Given the description of an element on the screen output the (x, y) to click on. 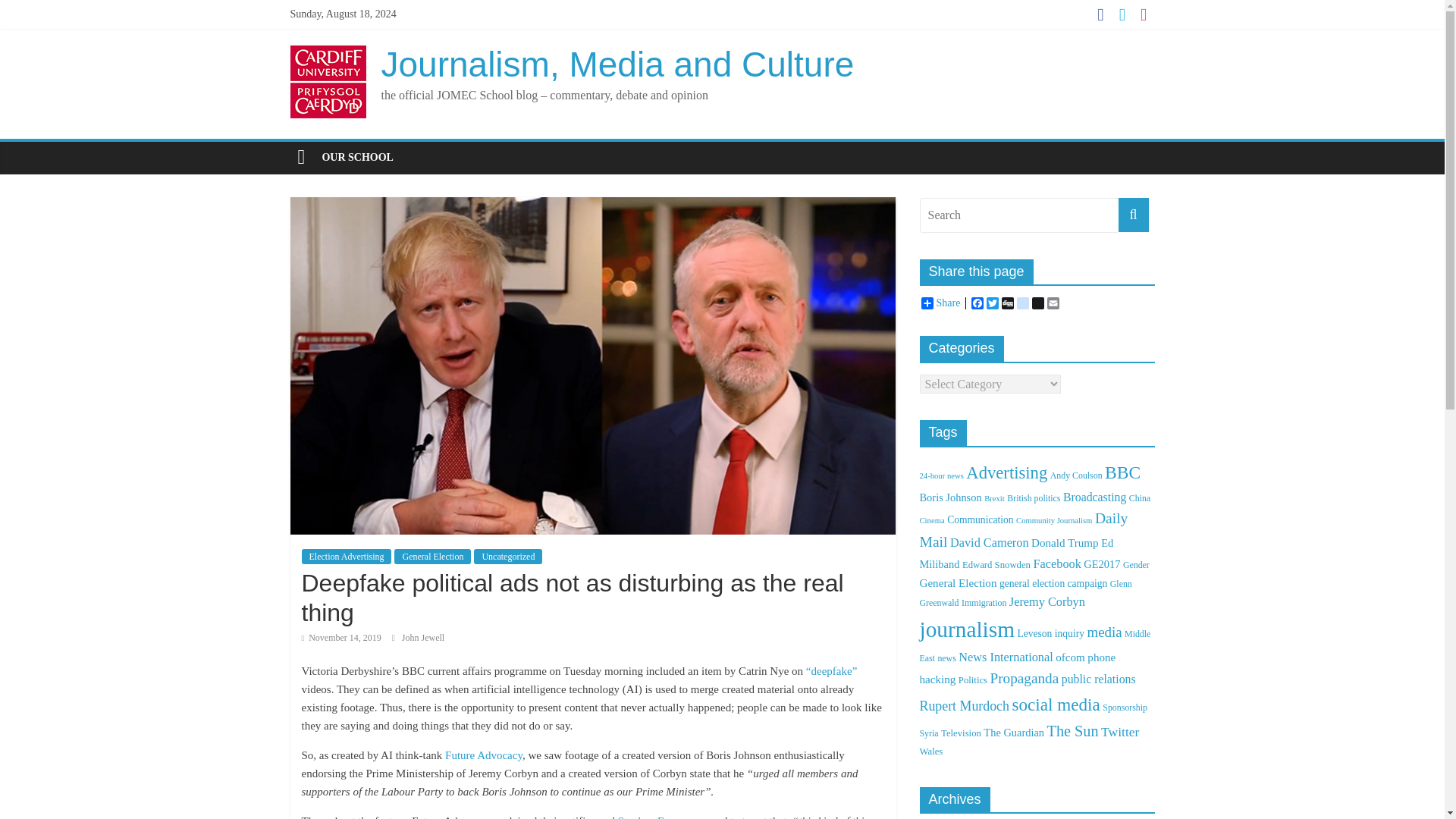
John Jewell (422, 637)
Share (939, 303)
General Election (432, 556)
Boris Johnson (949, 497)
November 14, 2019 (341, 637)
24-hour news (940, 475)
Facebook (977, 303)
Election Advertising (346, 556)
Digg (1007, 303)
Twitter (992, 303)
